Given the description of an element on the screen output the (x, y) to click on. 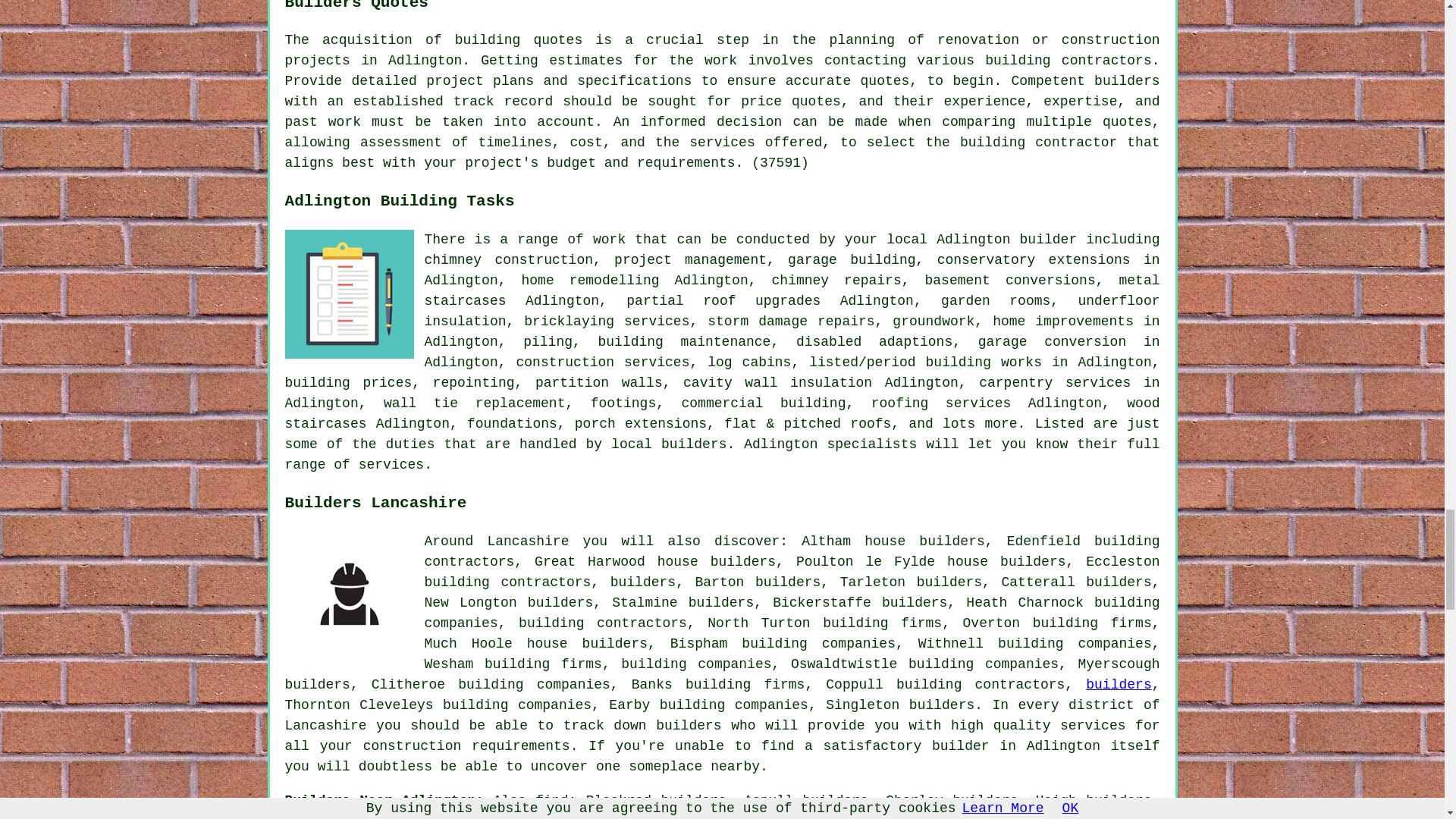
builders (1118, 684)
builders (642, 581)
builder (960, 745)
Building Tasks Adlington (349, 294)
building companies (696, 663)
Lancashire Builders Near Me (349, 595)
building contractors (602, 622)
